Given the description of an element on the screen output the (x, y) to click on. 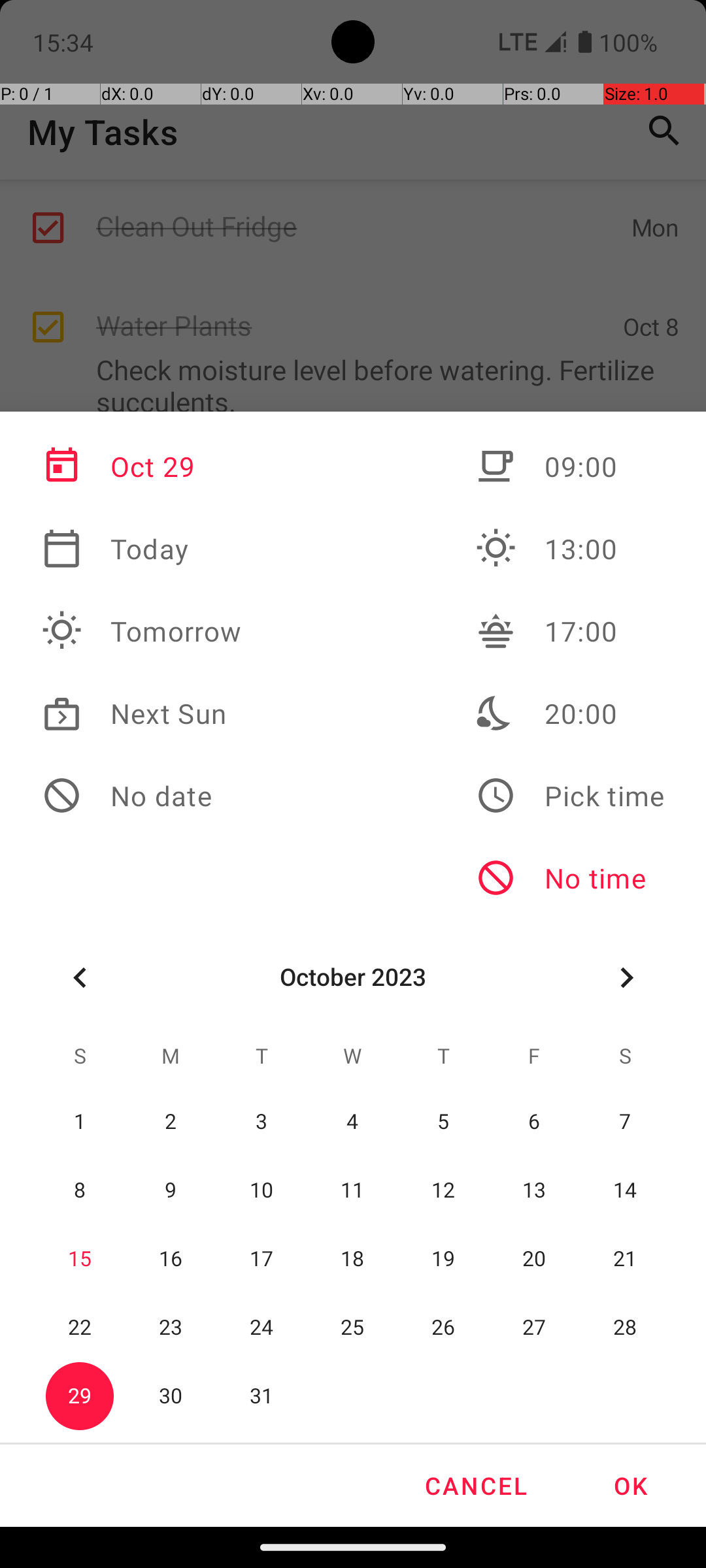
Oct 29 Element type: android.widget.CompoundButton (141, 466)
